Given the description of an element on the screen output the (x, y) to click on. 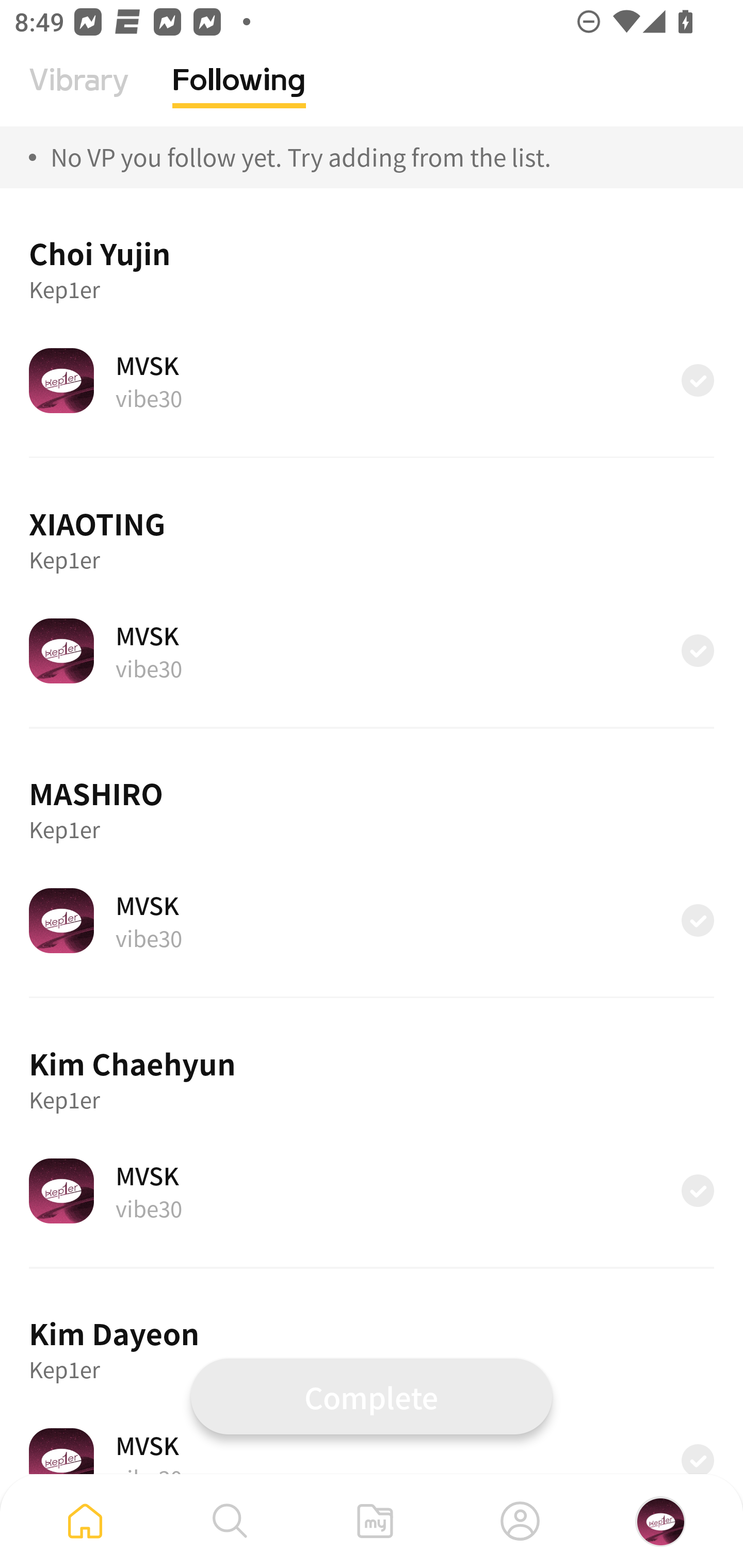
Vibrary (78, 95)
Following (239, 95)
MVSK vibe30 (371, 380)
MVSK vibe30 (371, 650)
MVSK vibe30 (371, 920)
MVSK vibe30 (371, 1190)
Complete (371, 1395)
MVSK vibe30 (371, 1450)
